Given the description of an element on the screen output the (x, y) to click on. 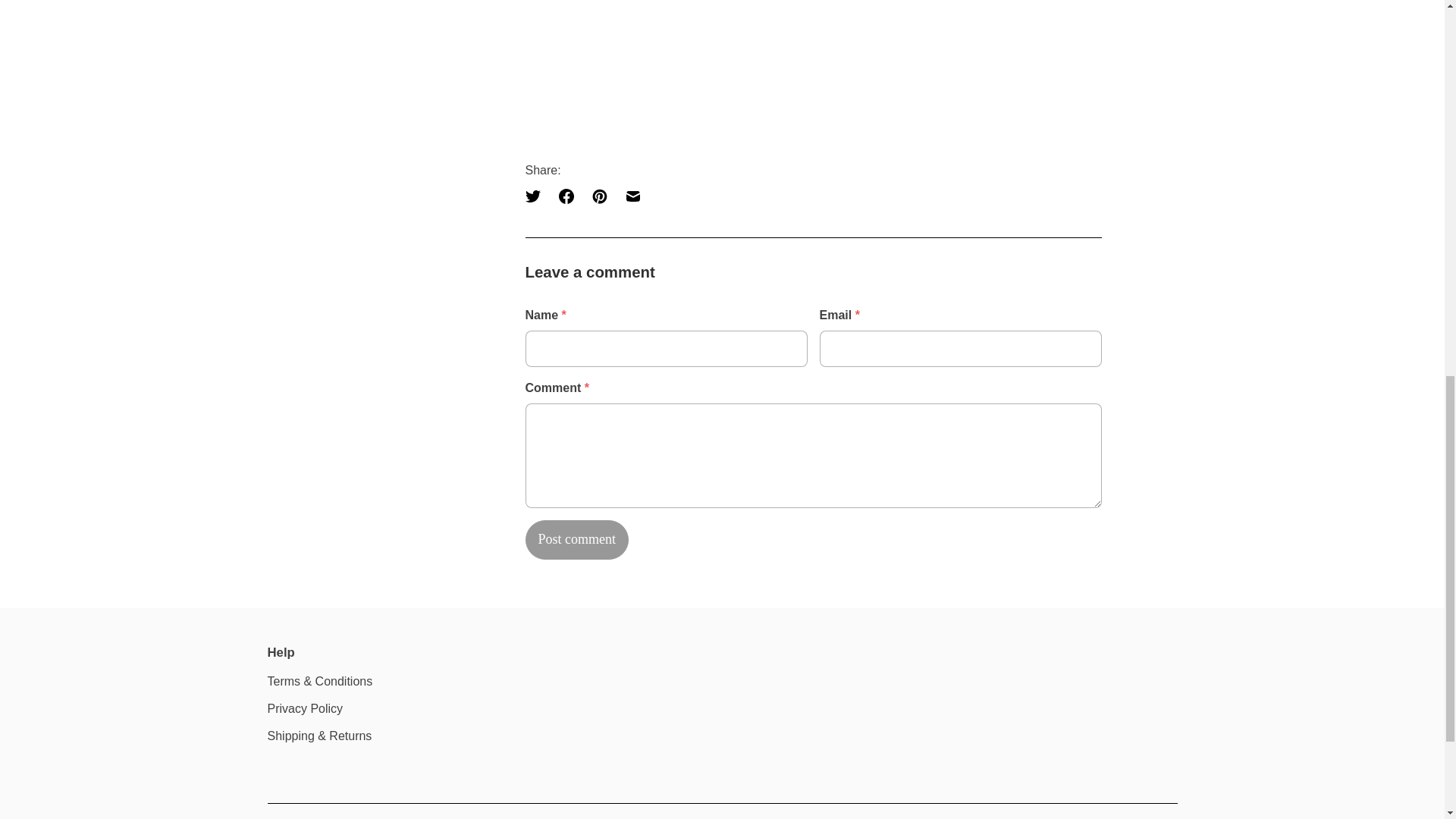
Share this on Pinterest (598, 195)
Email this to a friend (632, 195)
Share this on Facebook (565, 195)
Post comment (576, 539)
